Given the description of an element on the screen output the (x, y) to click on. 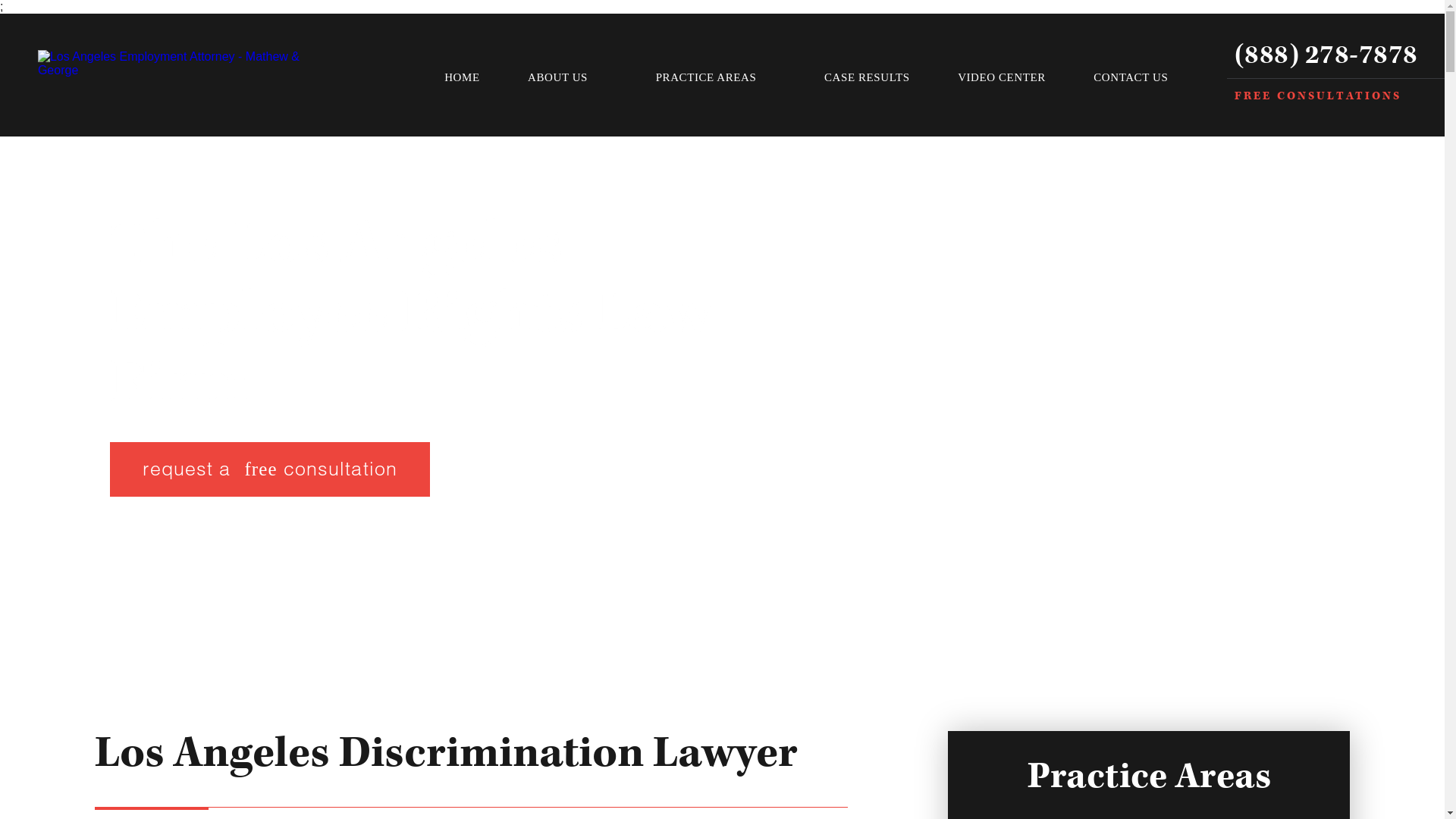
ABOUT US (566, 77)
CASE RESULTS (866, 77)
VIDEO CENTER (1001, 77)
PRACTICE AREAS (715, 77)
CONTACT US (1130, 77)
HOME (461, 77)
request a free consultation (269, 468)
